Given the description of an element on the screen output the (x, y) to click on. 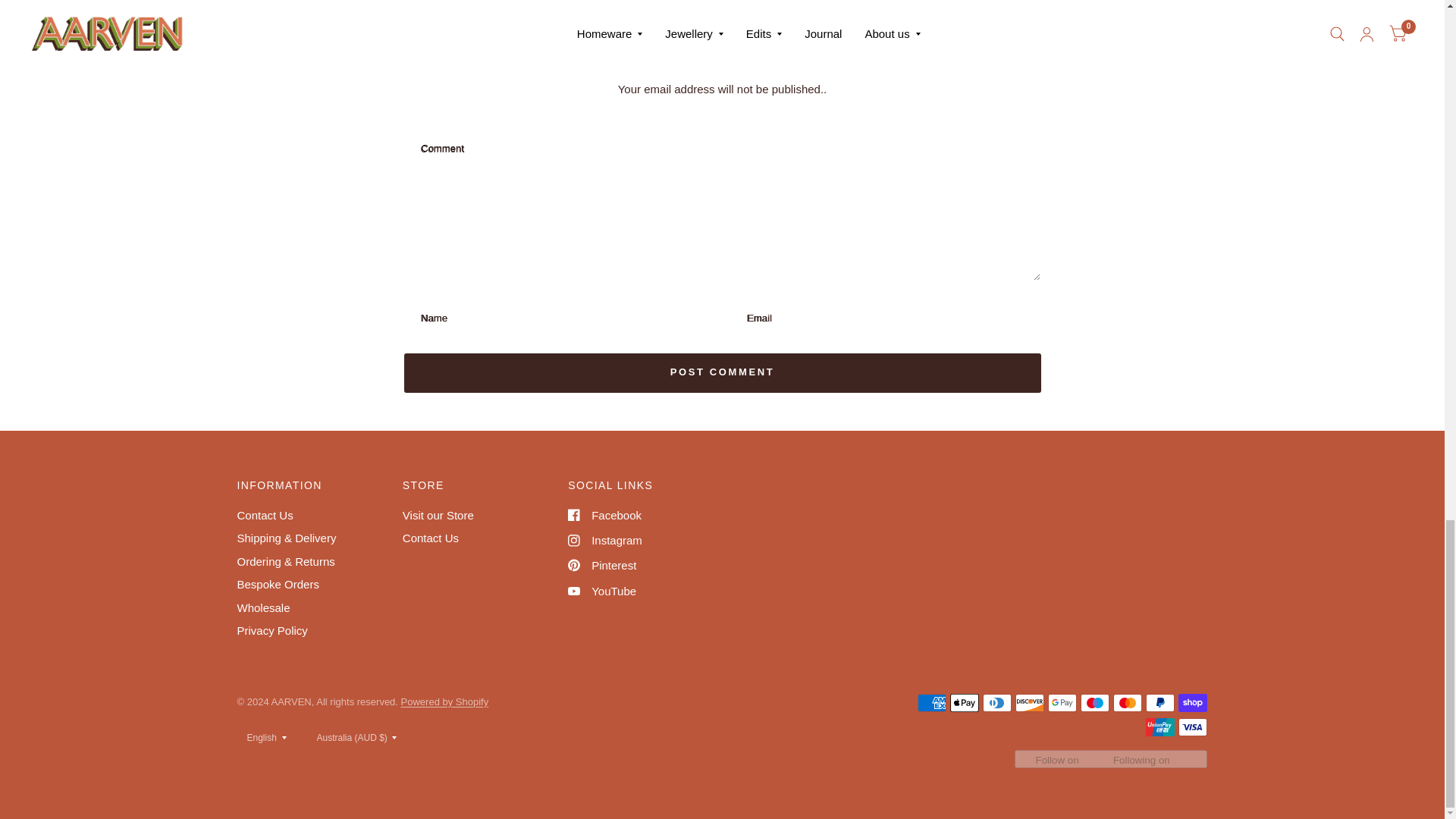
Post comment (722, 372)
